Given the description of an element on the screen output the (x, y) to click on. 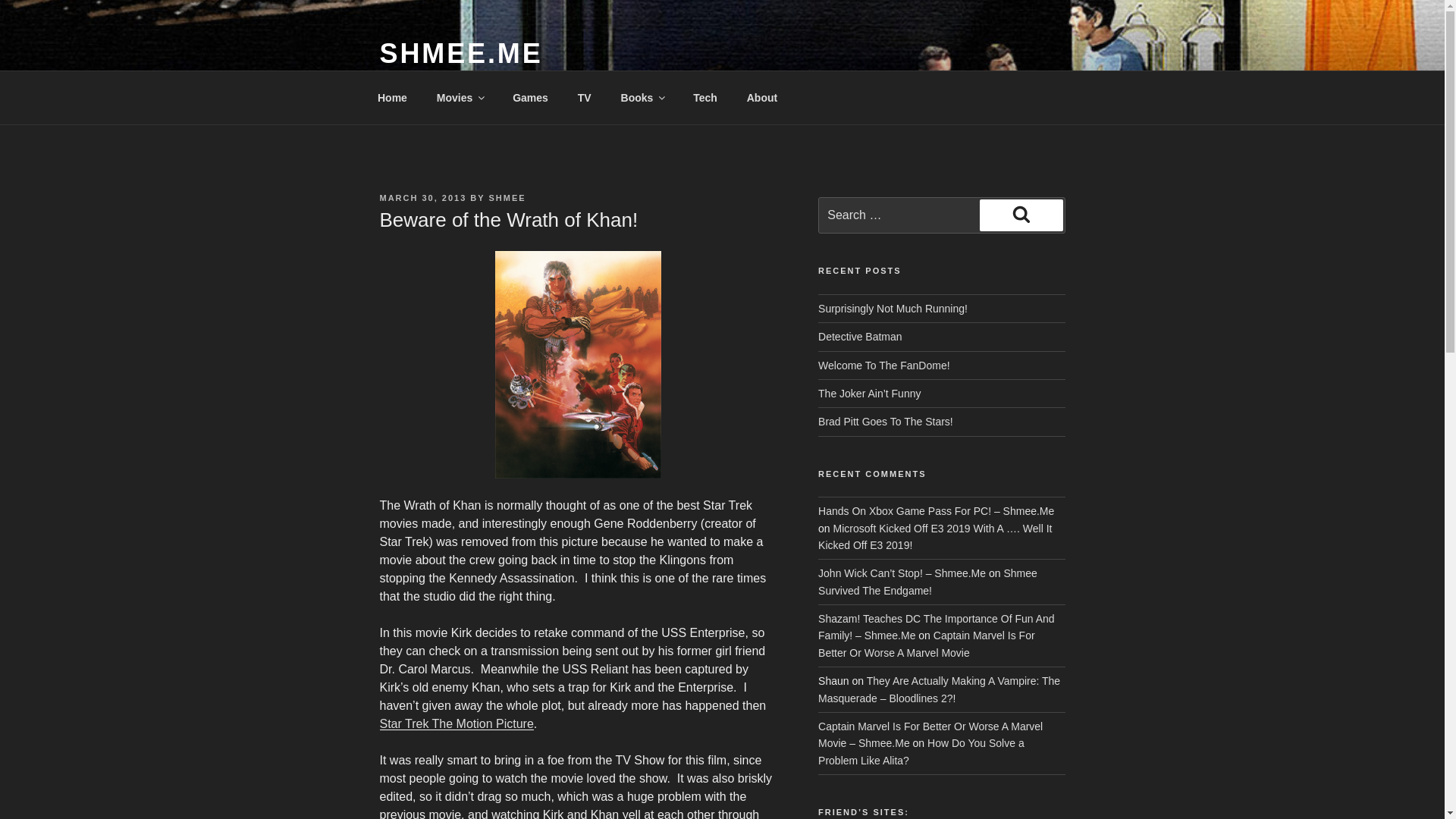
Movies (459, 97)
Welcome To The FanDome! (884, 365)
Brad Pitt Goes To The Stars! (885, 421)
Home (392, 97)
SHMEE (507, 197)
Does Star Trek the Motion Picture hold up? (455, 723)
Star Trek The Motion Picture (455, 723)
TV (584, 97)
Books (642, 97)
SHMEE.ME (459, 52)
